Given the description of an element on the screen output the (x, y) to click on. 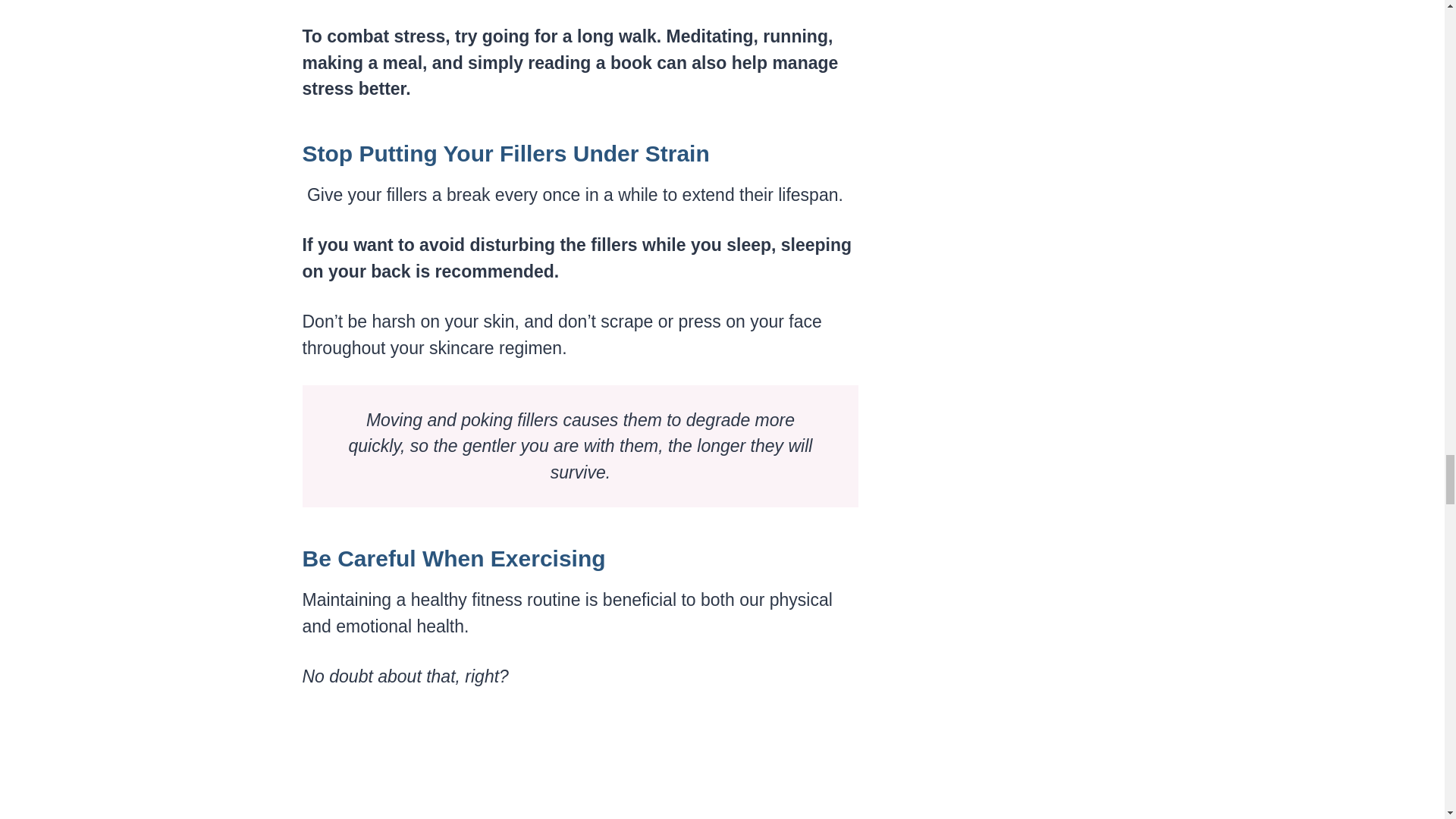
How to Make Lip Fillers Last Longer with Ease? 7 (578, 766)
